Given the description of an element on the screen output the (x, y) to click on. 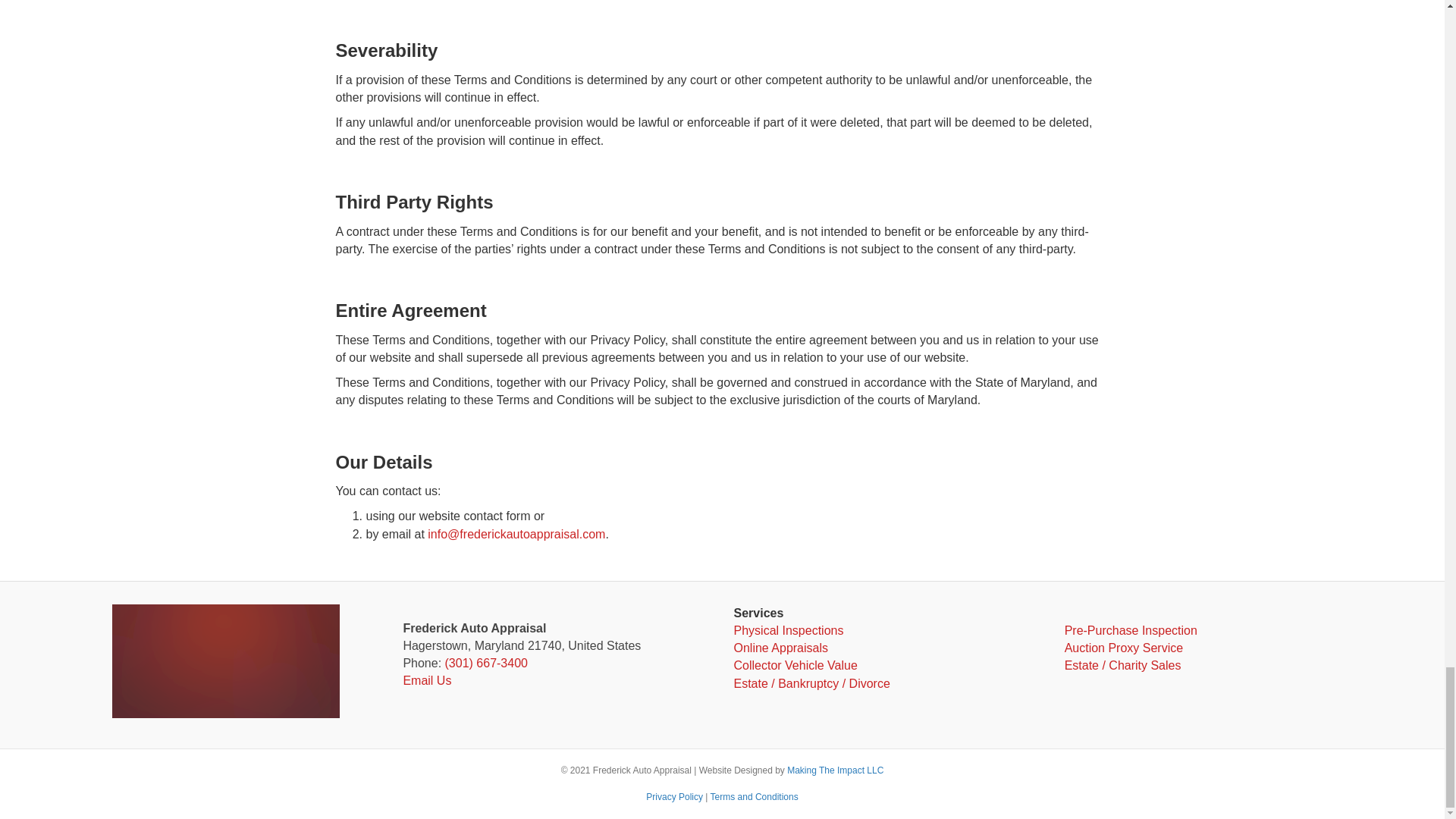
Auction Proxy Service (1123, 647)
Terms and Conditions (753, 796)
Pre-Purchase Inspection (1130, 630)
Collector Vehicle Value (795, 665)
Physical Inspections (788, 630)
Making The Impact LLC (835, 769)
Privacy Policy (674, 796)
Email Us (427, 680)
Online Appraisals (780, 647)
Services (758, 612)
